Given the description of an element on the screen output the (x, y) to click on. 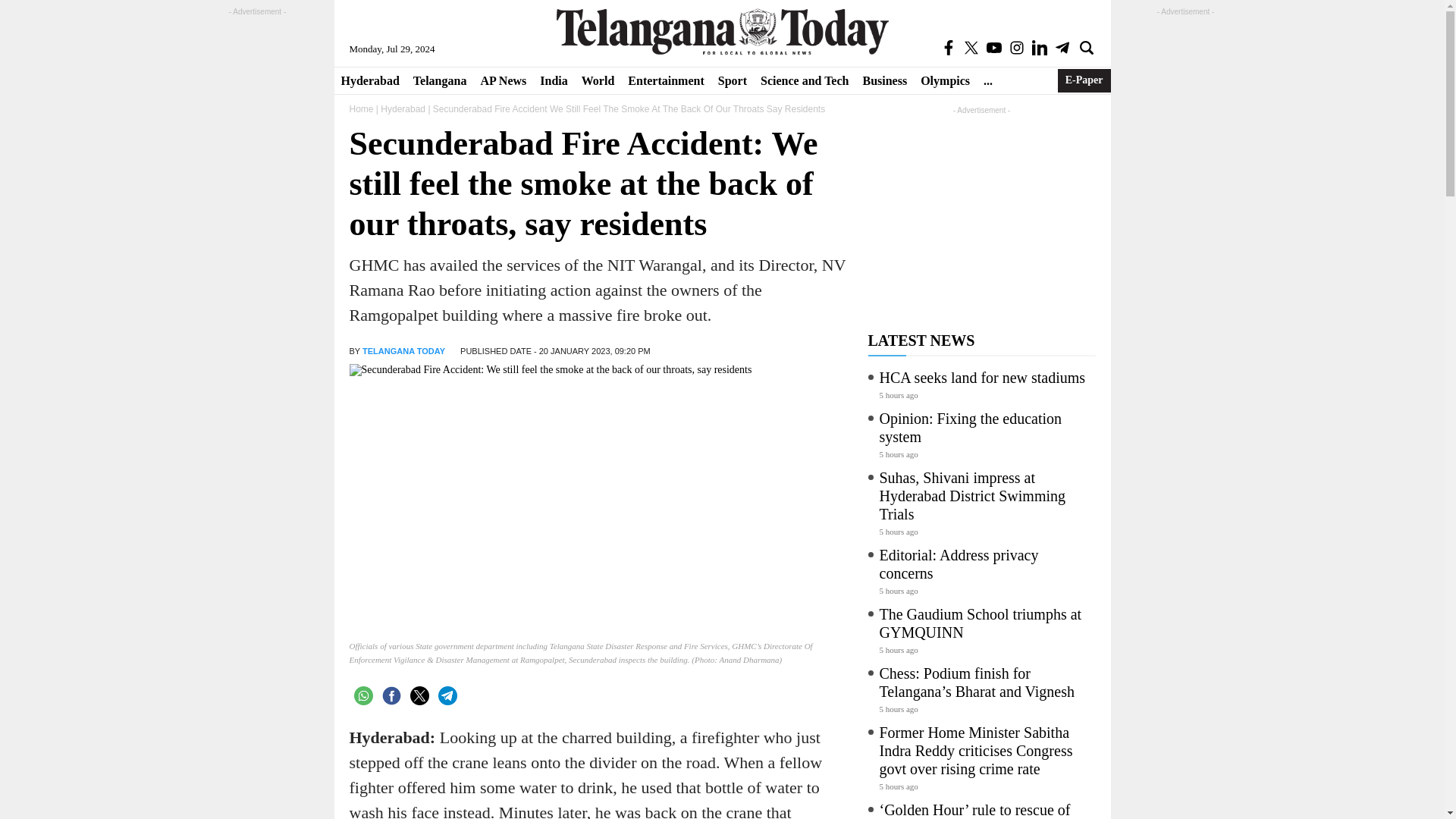
Hyderabad (402, 109)
Sport (732, 80)
World (598, 80)
Hyderabad (369, 80)
Home (360, 109)
English News (722, 31)
India (552, 80)
Telangana (440, 80)
Science and Tech (805, 80)
Entertainment (665, 80)
AP News (502, 80)
India (552, 80)
Telangana (440, 80)
World (598, 80)
... (987, 80)
